Given the description of an element on the screen output the (x, y) to click on. 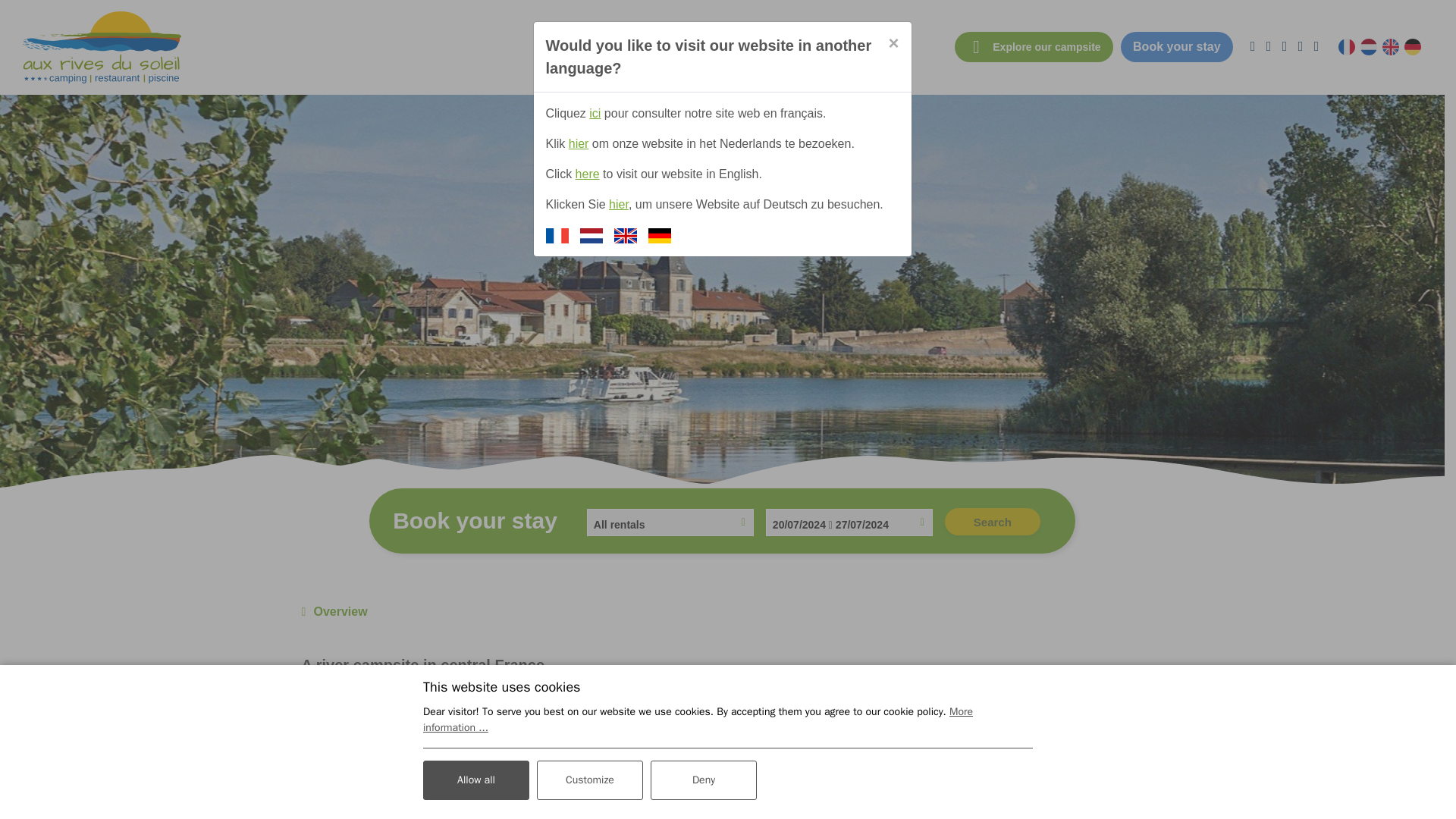
rivesdusoleil (101, 47)
Explore our campsite (1033, 46)
Instagram (1299, 46)
Book your stay (1177, 46)
Book your stay (1177, 46)
0033385303365 (1268, 46)
Facebook (1284, 46)
Aux rives du soleil camping rivier (950, 795)
